Given the description of an element on the screen output the (x, y) to click on. 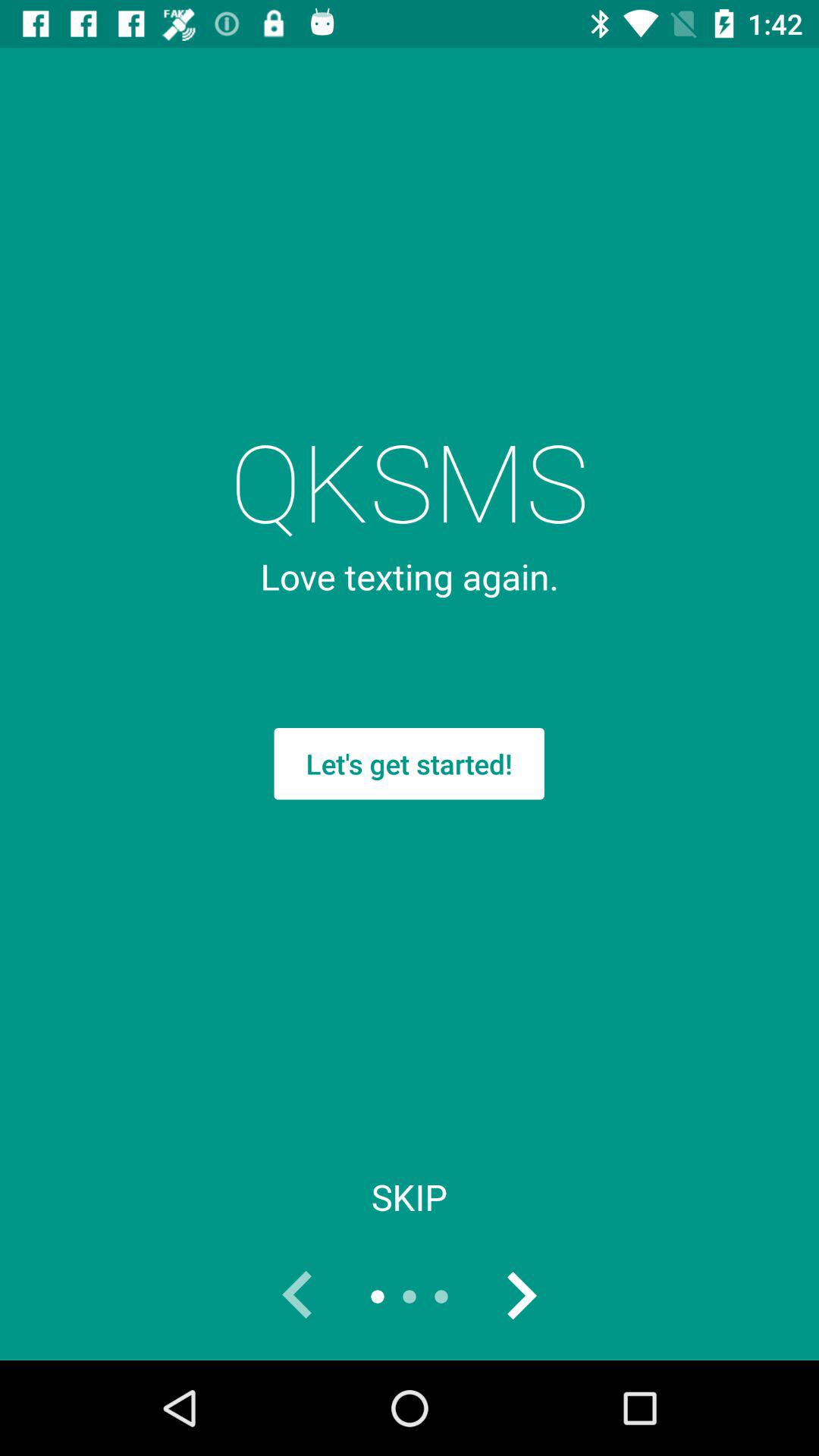
swipe until skip (409, 1197)
